Given the description of an element on the screen output the (x, y) to click on. 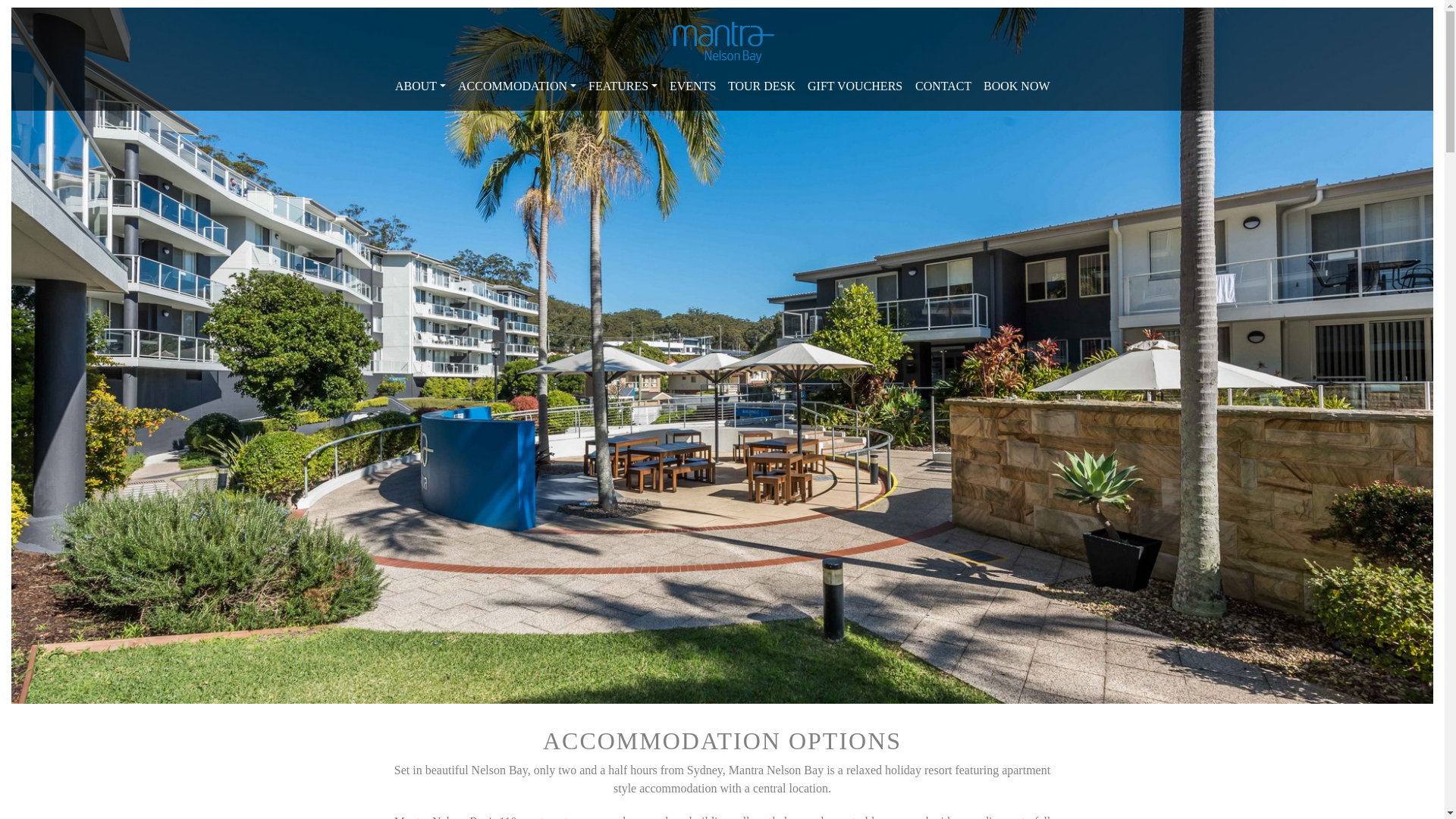
GIFT VOUCHERS (855, 85)
FEATURES (622, 85)
ABOUT (419, 85)
EVENTS (692, 85)
BOOK NOW (1016, 85)
TOUR DESK (762, 85)
ACCOMMODATION (516, 85)
CONTACT (942, 85)
